Given the description of an element on the screen output the (x, y) to click on. 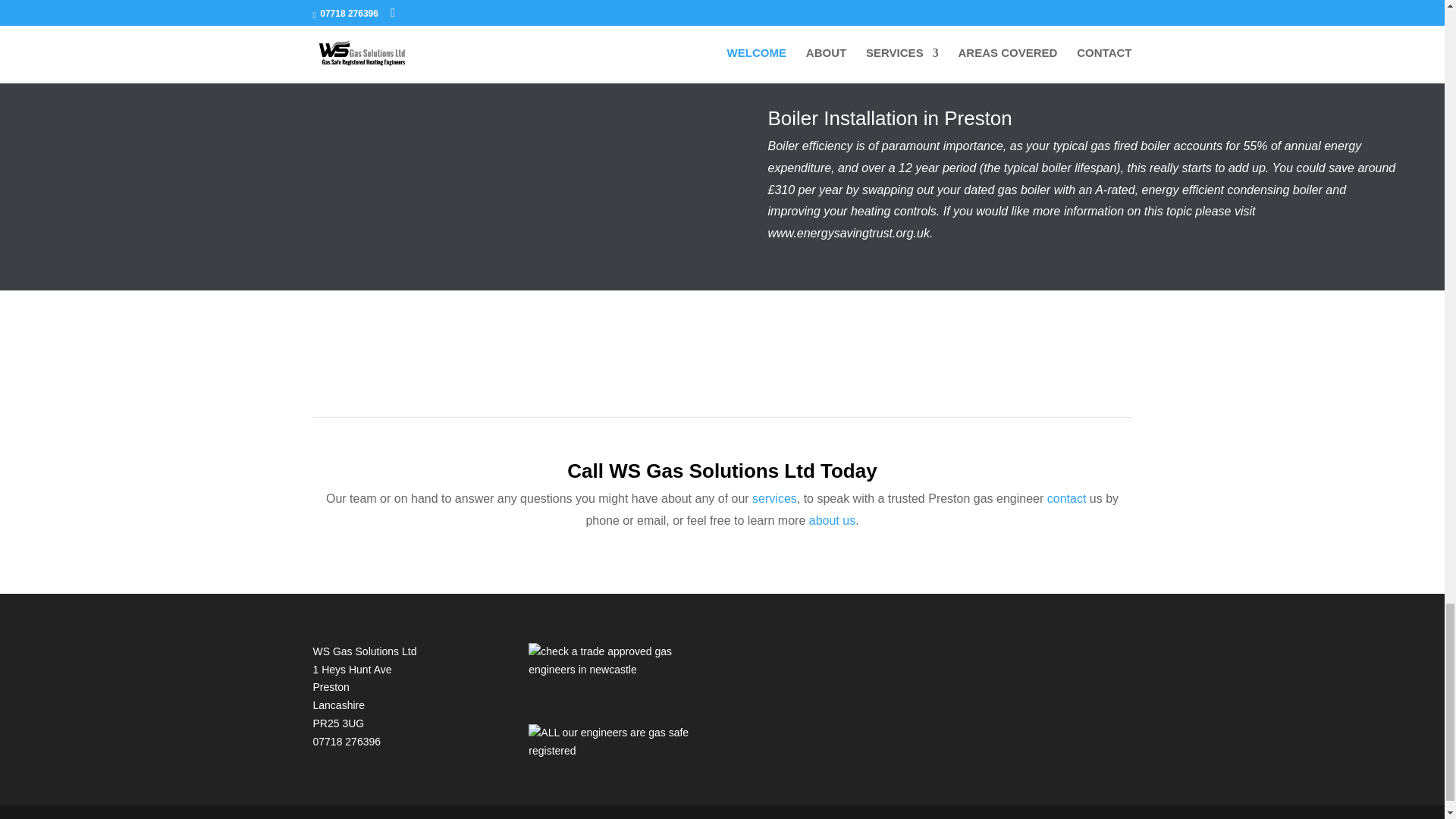
services (774, 498)
contact (1067, 498)
about us (832, 520)
